Given the description of an element on the screen output the (x, y) to click on. 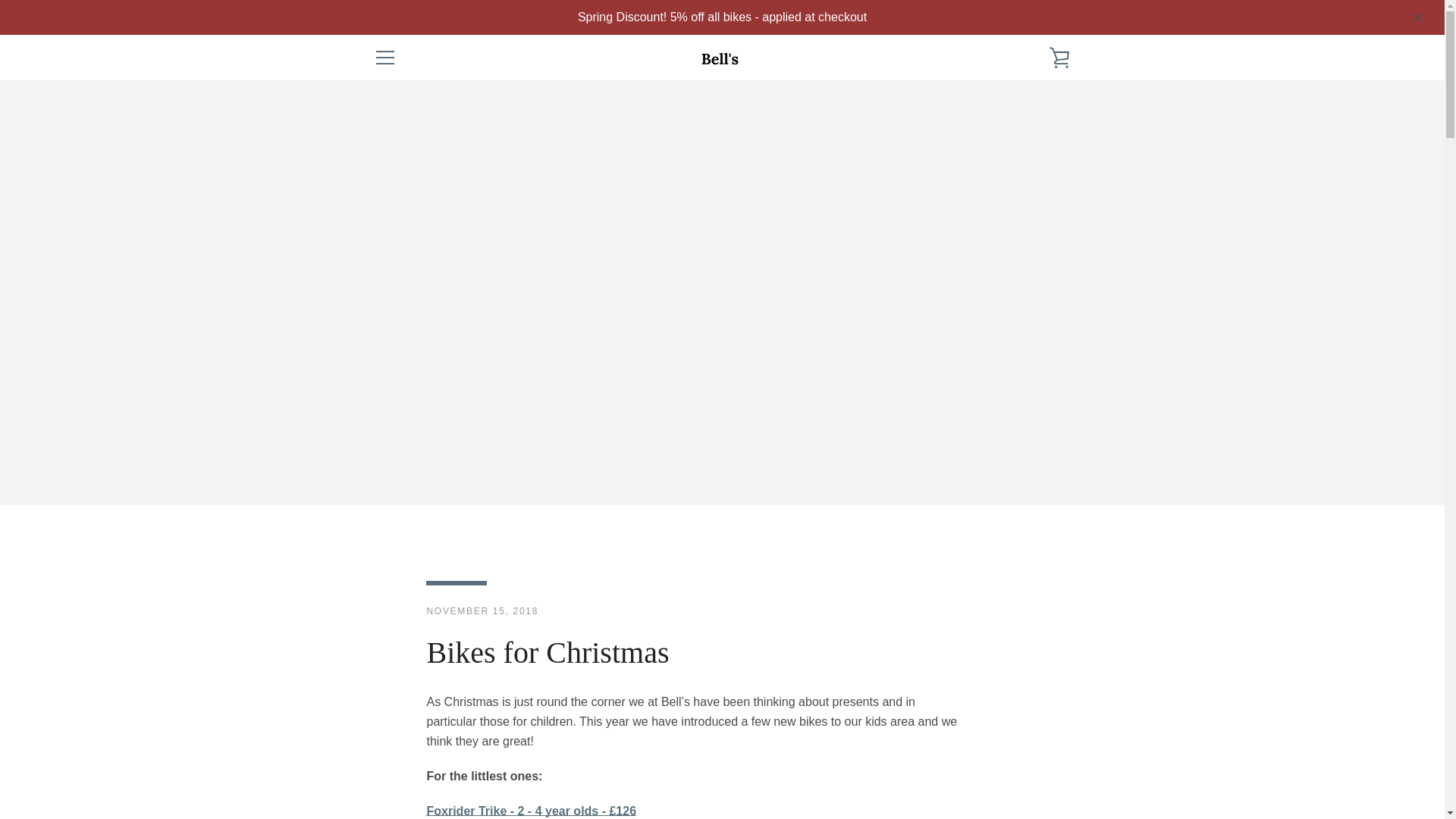
Mastercard (1022, 755)
American Express (883, 755)
Maestro (988, 755)
Diners Club (918, 755)
Shop Pay (988, 778)
Foxrider Trike. Foxrider tricyle. (531, 810)
Union Pay (1022, 778)
Visa (1057, 778)
PayPal (1057, 755)
